Given the description of an element on the screen output the (x, y) to click on. 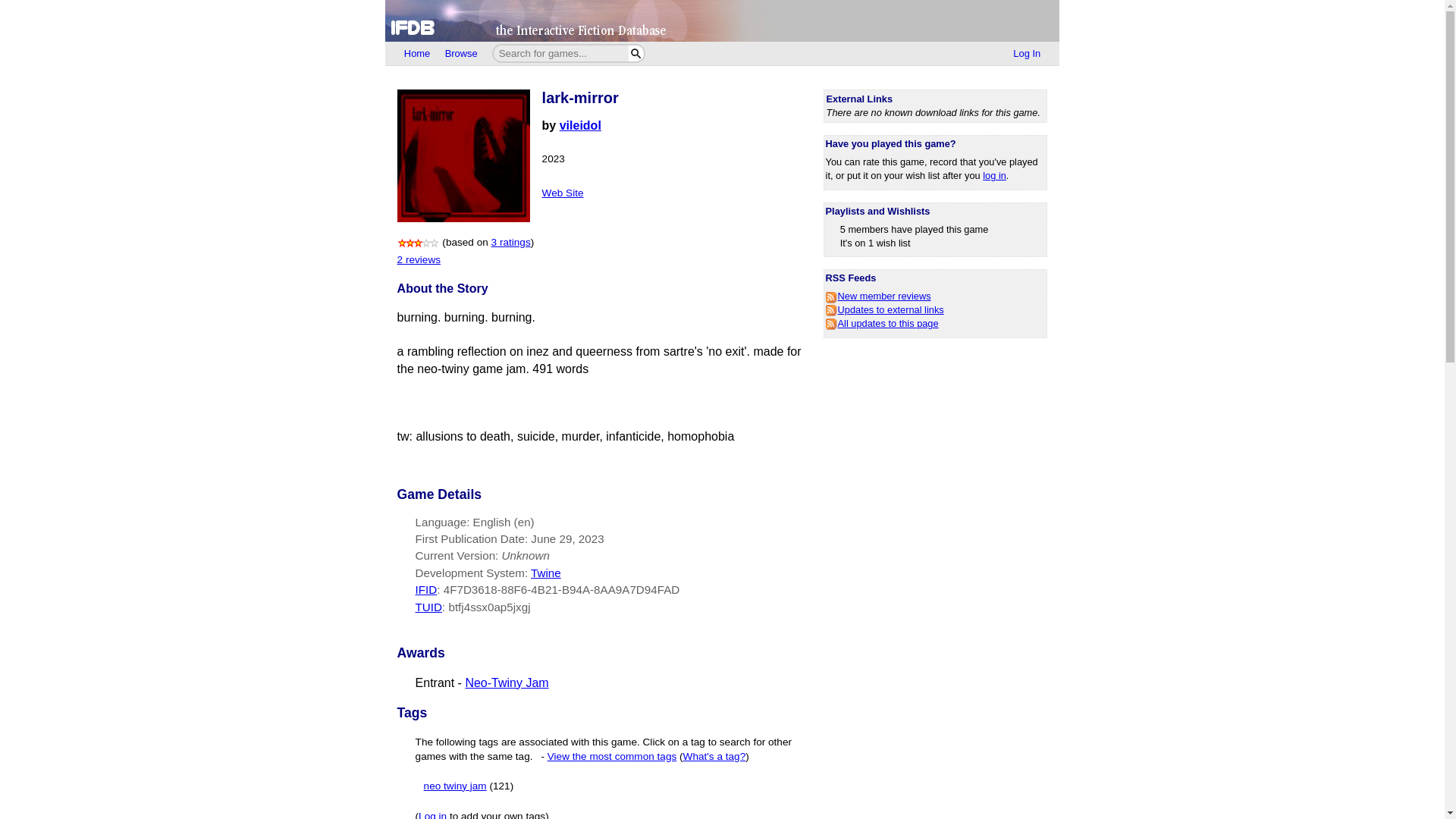
It's on 1 wish list (875, 242)
View all ratings and reviews for this game (511, 242)
5 members have played this game (914, 229)
Search for games tagged with neo twiny jam (468, 785)
121 games have this tag (501, 785)
vileidol (580, 124)
neo twiny jam (454, 785)
2 reviews (419, 259)
3 ratings (511, 242)
Neo-Twiny Jam (506, 682)
